Given the description of an element on the screen output the (x, y) to click on. 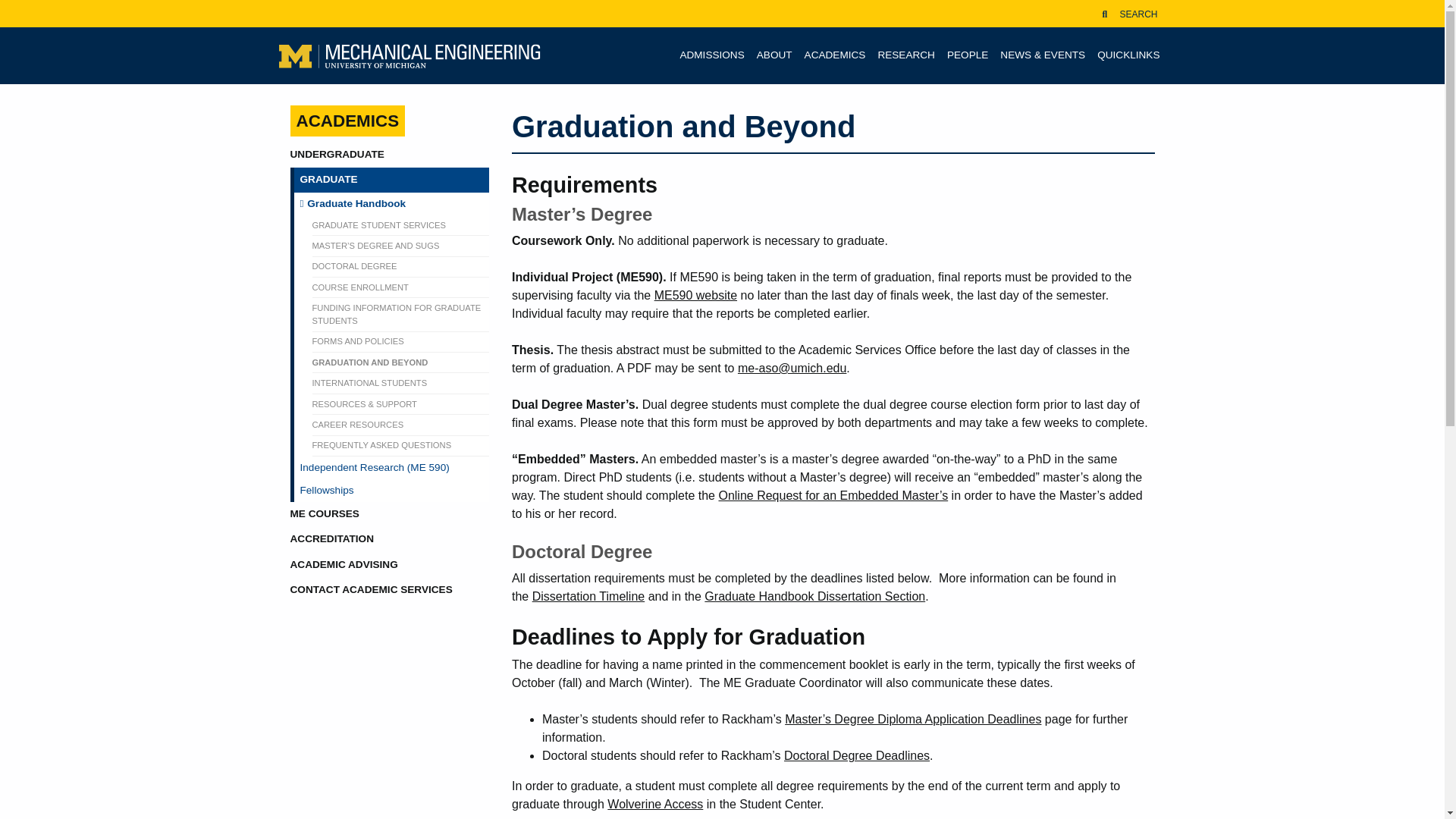
ADMISSIONS (710, 54)
ABOUT (774, 54)
ACADEMICS (834, 54)
